Given the description of an element on the screen output the (x, y) to click on. 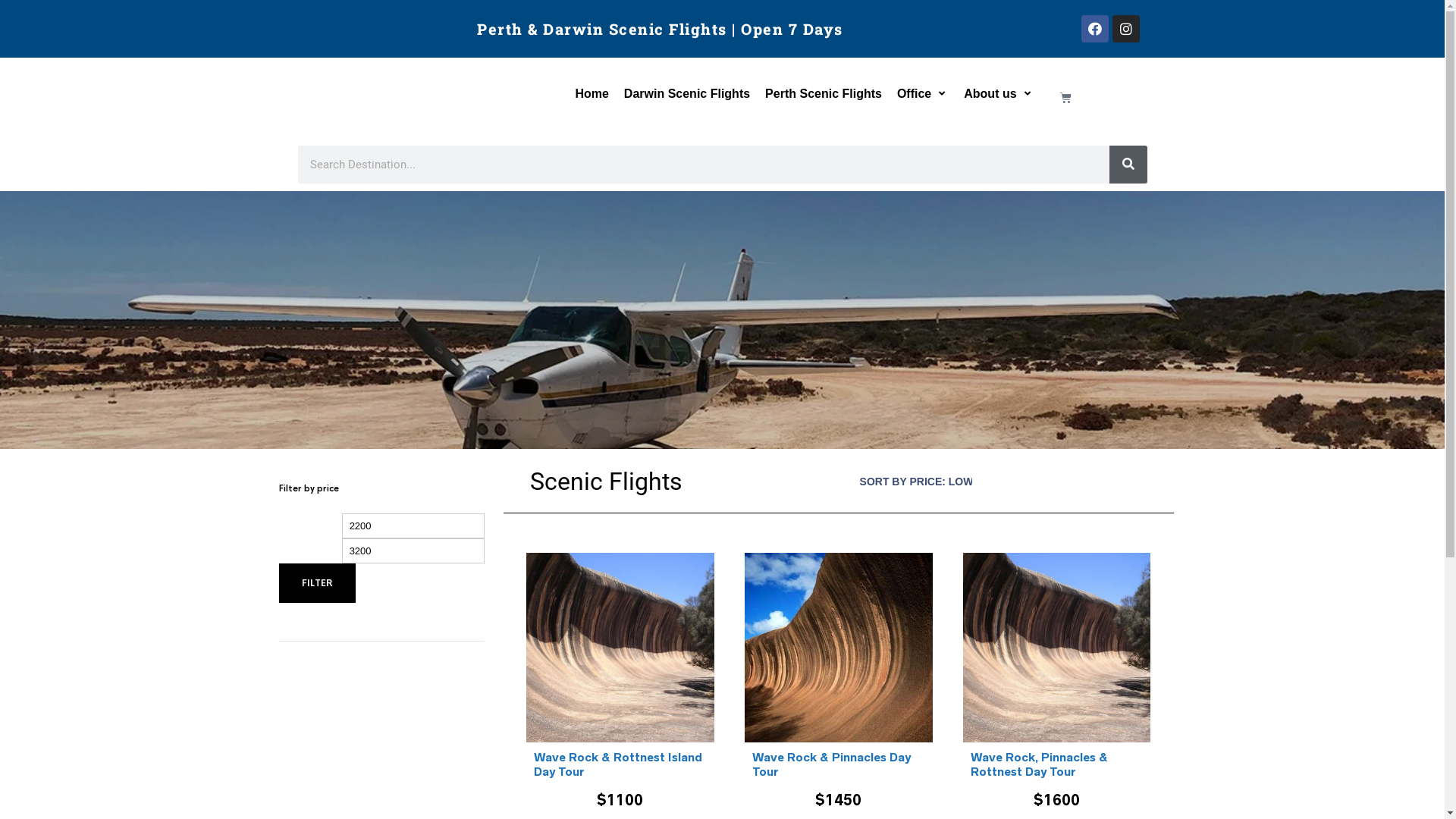
Home Element type: text (591, 93)
Office Element type: text (914, 93)
Perth Scenic Flights Element type: text (823, 93)
Wave Rock & Pinnacles Day Tour Element type: text (838, 764)
Wave Rock, Pinnacles & Rottnest Day Tour Element type: text (1056, 764)
About us Element type: text (989, 93)
FILTER Element type: text (317, 582)
Darwin Scenic Flights Element type: text (686, 93)
Wave Rock & Rottnest Island Day Tour Element type: text (619, 764)
